Given the description of an element on the screen output the (x, y) to click on. 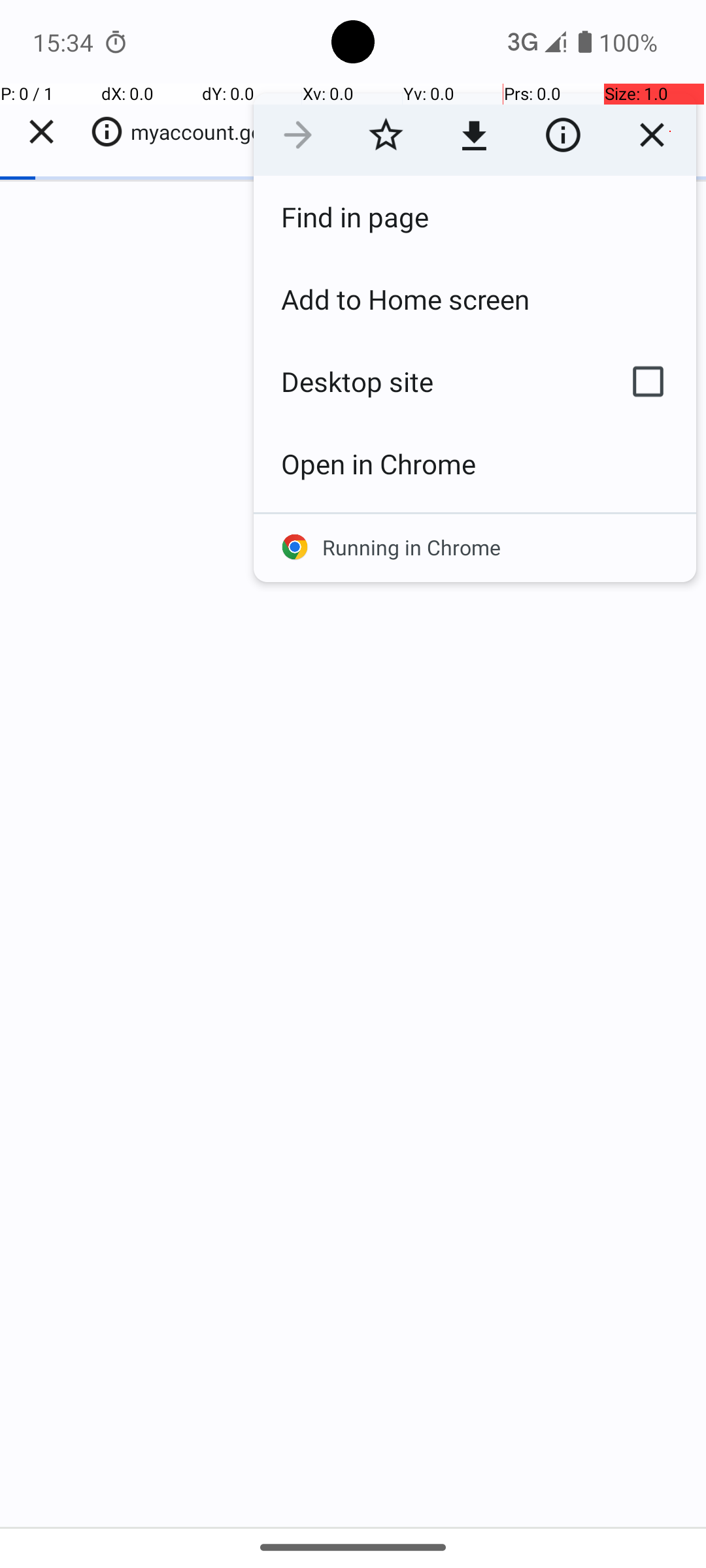
Running in Chrome Element type: android.widget.TextView (474, 547)
Go forward Element type: android.widget.ImageButton (297, 134)
Bookmark Element type: android.widget.ImageButton (385, 134)
Download page Element type: android.widget.ImageButton (474, 134)
View site information Element type: android.widget.ImageButton (562, 134)
Stop refreshing Element type: android.widget.ImageButton (651, 134)
Find in page Element type: android.widget.TextView (474, 216)
Add to Home screen Element type: android.widget.TextView (474, 299)
Desktop site Element type: android.widget.TextView (426, 381)
Open in Chrome Element type: android.widget.TextView (474, 463)
